Given the description of an element on the screen output the (x, y) to click on. 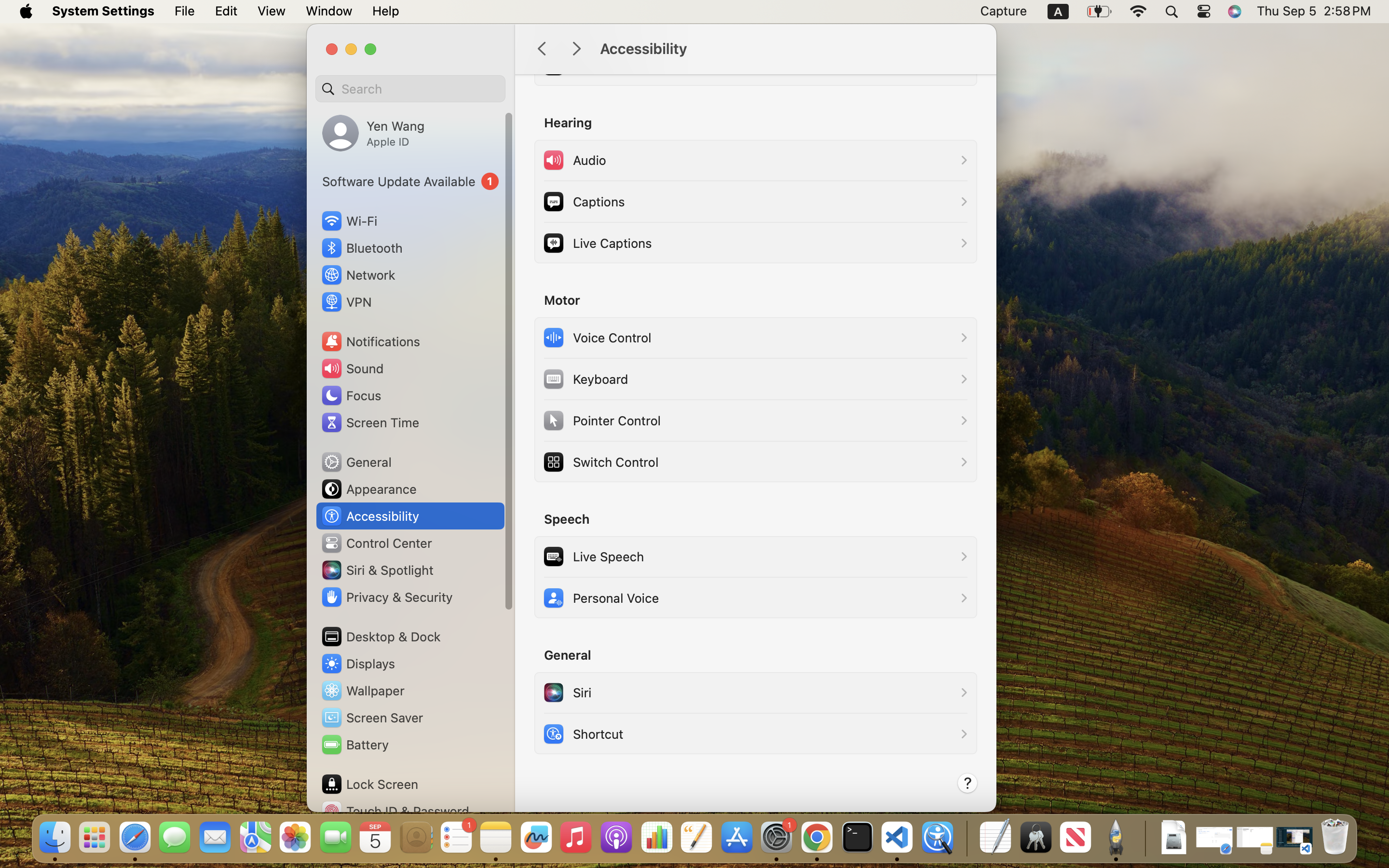
Lock Screen Element type: AXStaticText (369, 783)
Yen Wang, Apple ID Element type: AXStaticText (373, 132)
Privacy & Security Element type: AXStaticText (386, 596)
Accessibility Element type: AXStaticText (788, 49)
Touch ID & Password Element type: AXStaticText (394, 810)
